Given the description of an element on the screen output the (x, y) to click on. 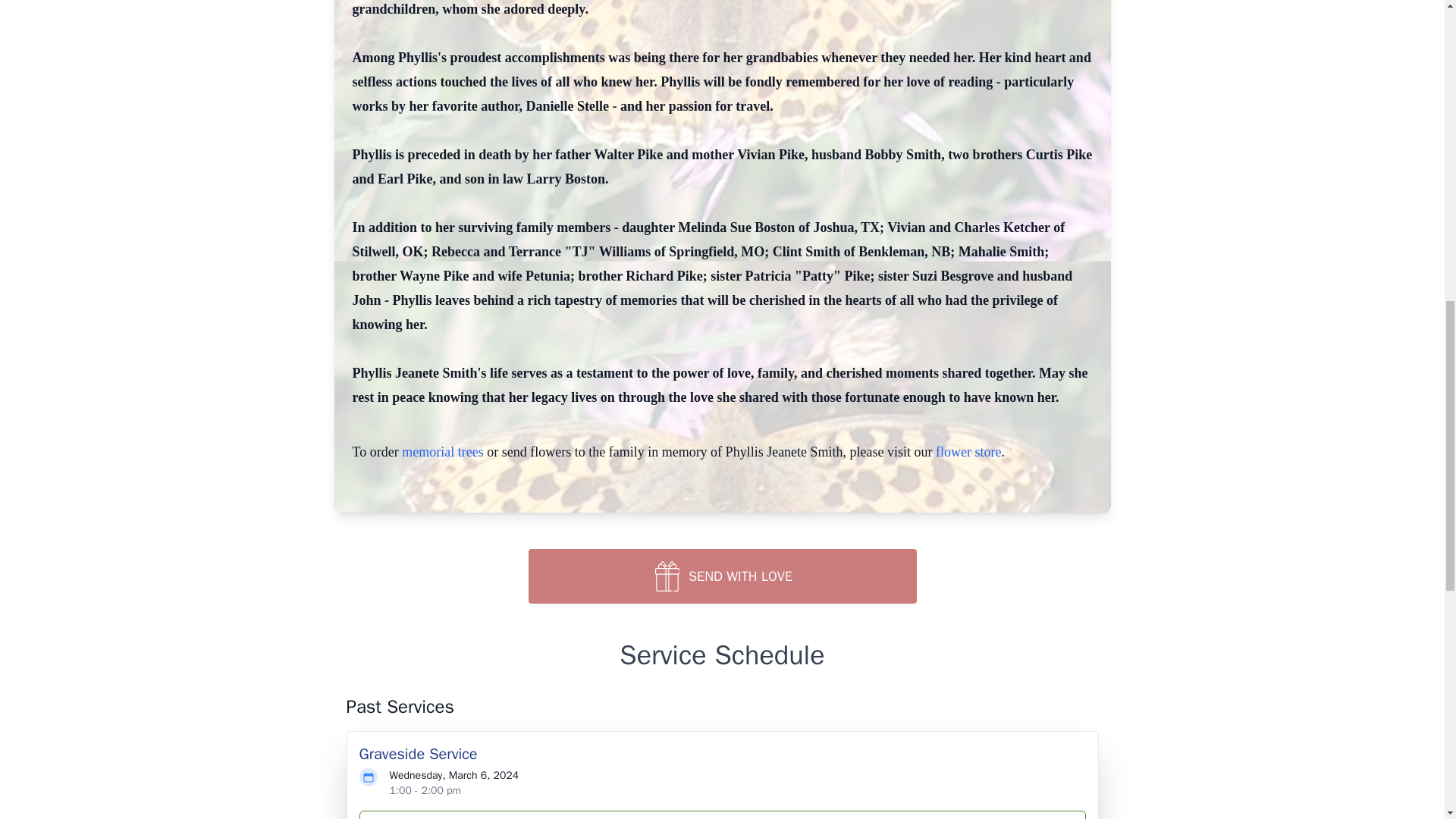
flower store (968, 451)
Plant Trees (722, 814)
SEND WITH LOVE (721, 575)
memorial trees (442, 451)
